Given the description of an element on the screen output the (x, y) to click on. 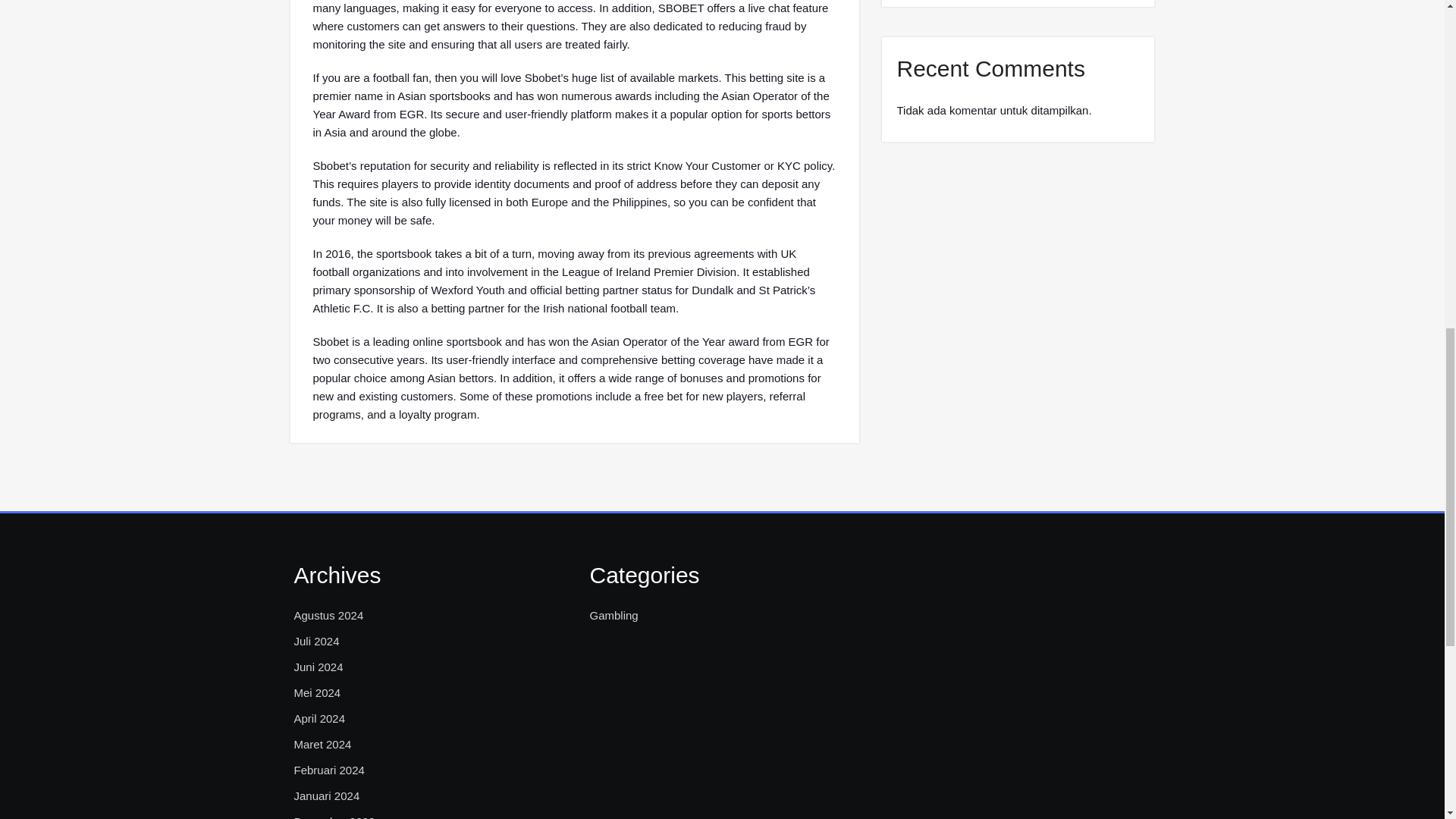
Februari 2024 (329, 770)
Maret 2024 (323, 744)
Januari 2024 (326, 796)
April 2024 (320, 719)
Desember 2023 (334, 816)
Mei 2024 (317, 692)
Agustus 2024 (329, 615)
Juli 2024 (316, 641)
Juni 2024 (318, 667)
